Given the description of an element on the screen output the (x, y) to click on. 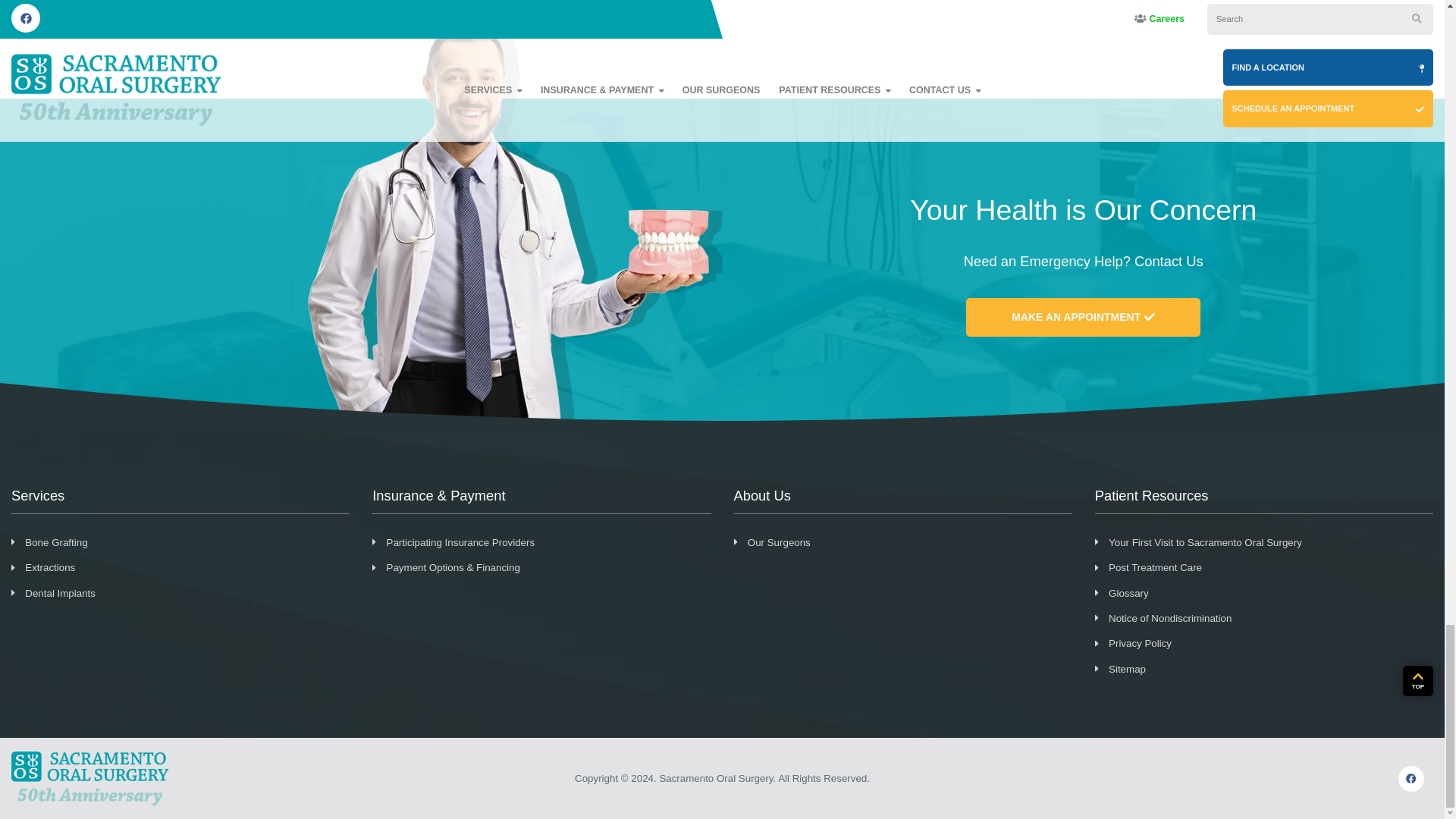
Dental Implants (180, 593)
Extractions (180, 568)
Participating Insurance Providers (541, 542)
Our Surgeons (902, 542)
Bone Grafting (180, 542)
MAKE AN APPOINTMENT (1082, 317)
